Given the description of an element on the screen output the (x, y) to click on. 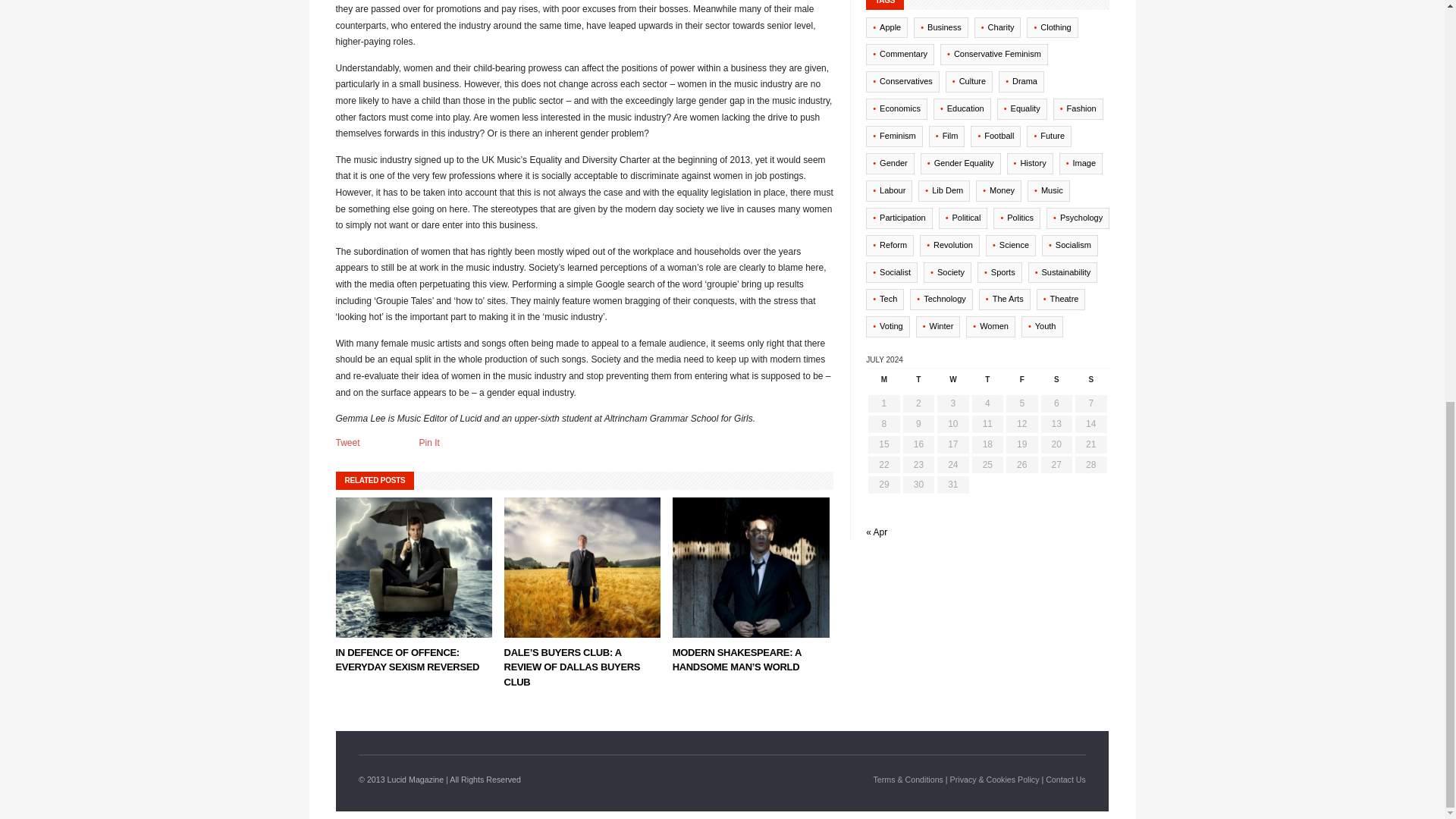
In Defence of Offence: Everyday Sexism Reversed (406, 660)
